Given the description of an element on the screen output the (x, y) to click on. 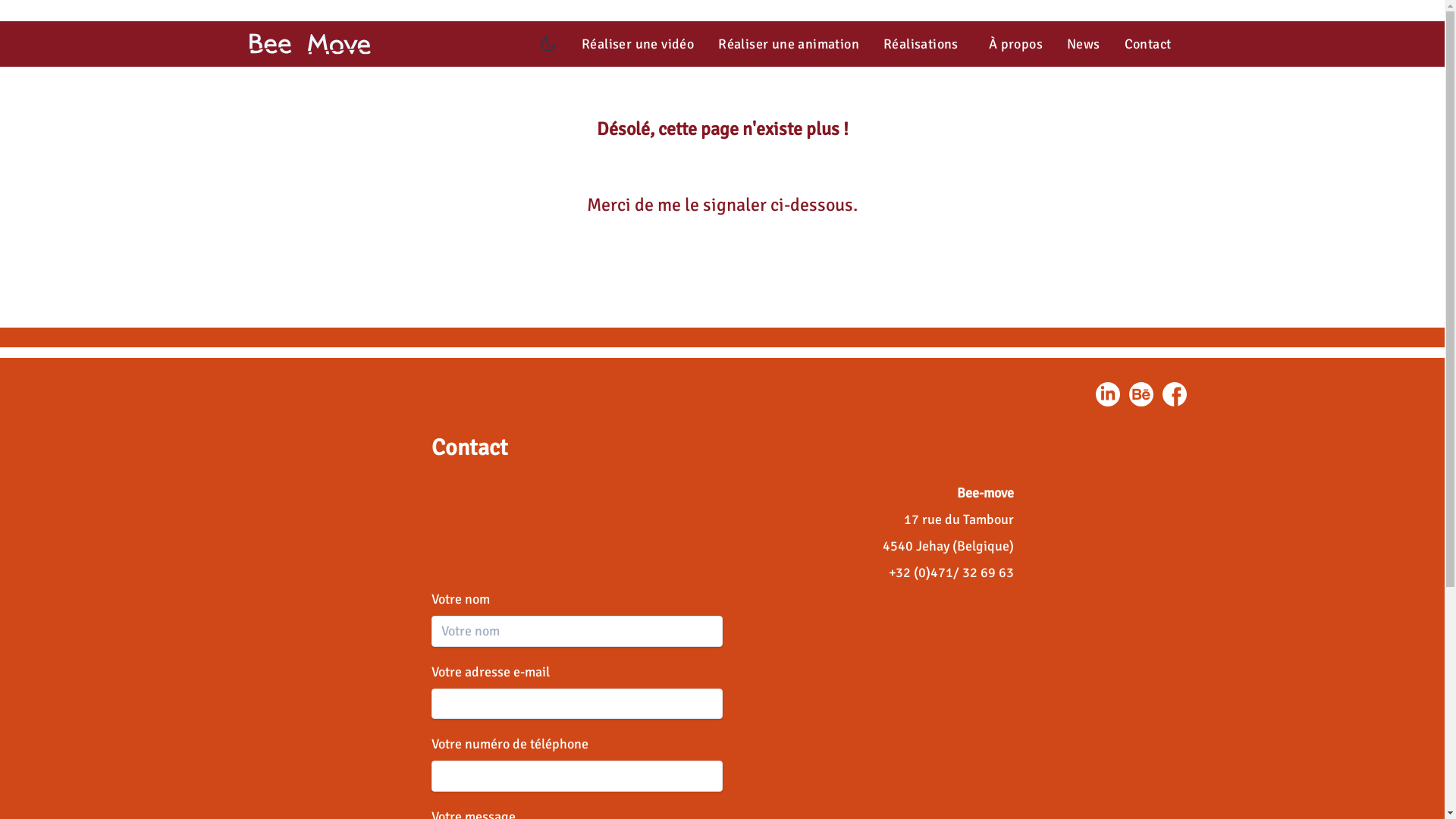
Contact Element type: text (1147, 43)
News Element type: text (1083, 43)
